Given the description of an element on the screen output the (x, y) to click on. 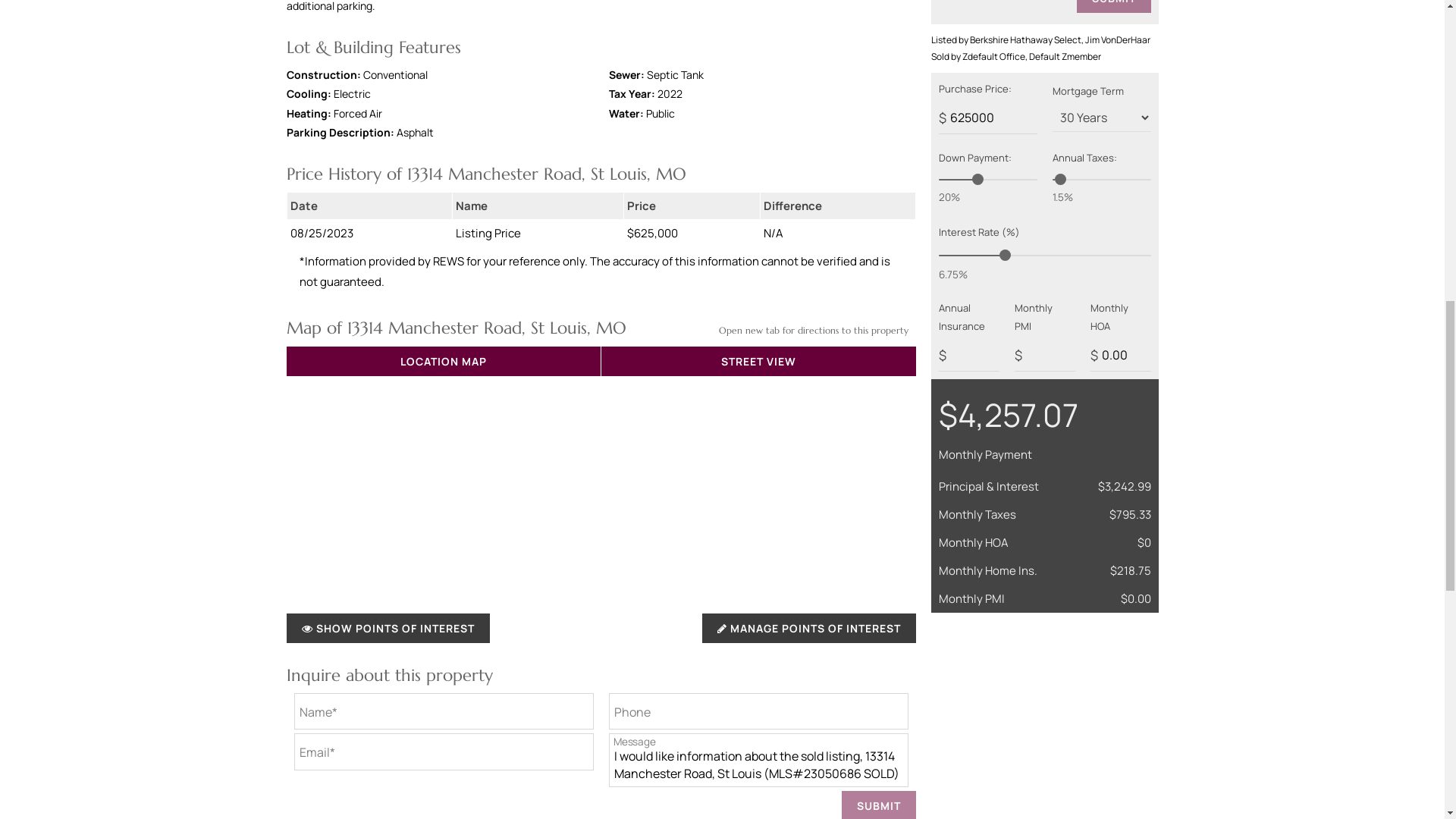
625000 (987, 117)
0.00 (1120, 355)
